Given the description of an element on the screen output the (x, y) to click on. 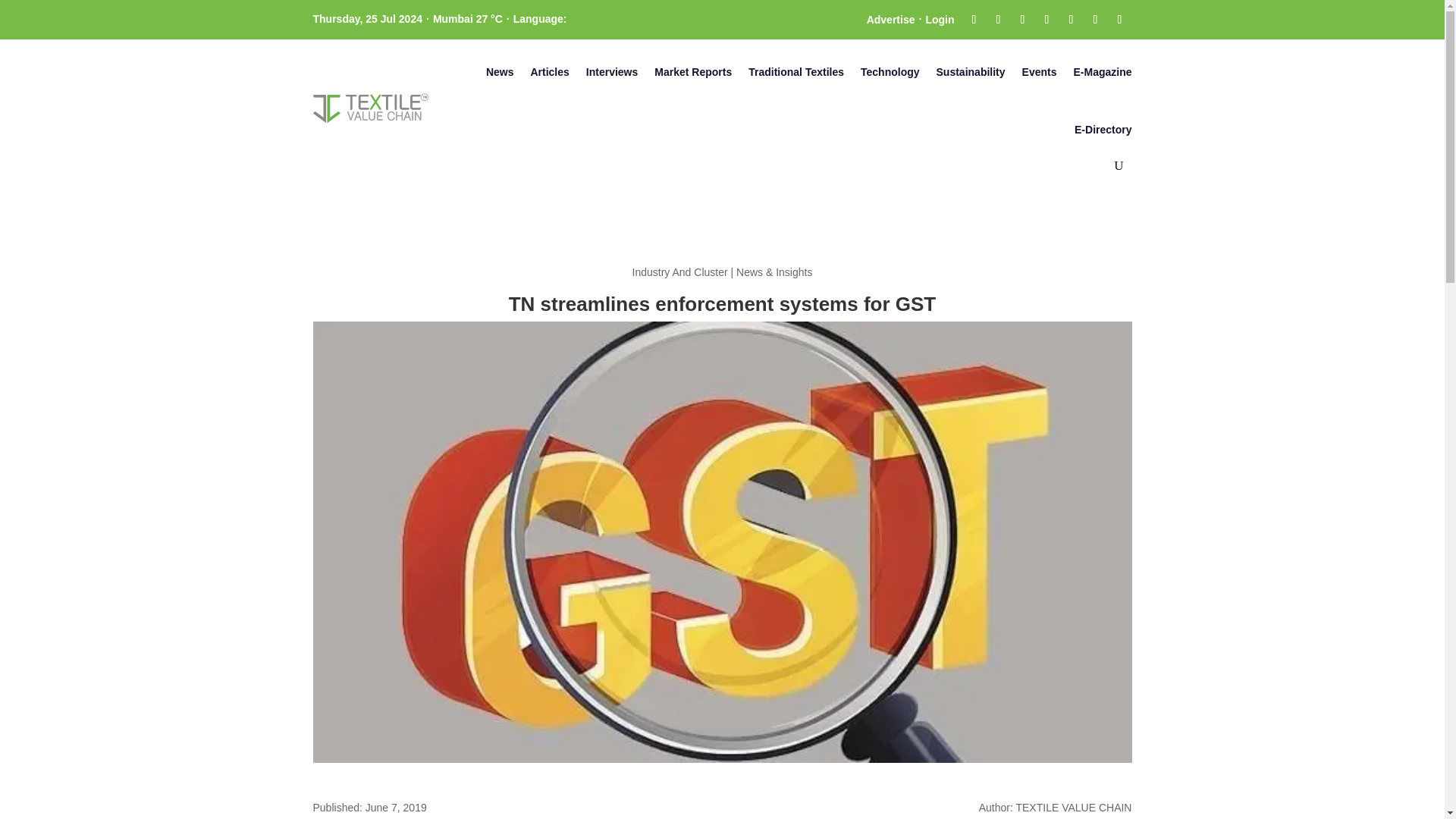
E-Directory (1102, 129)
Follow on LinkedIn (1045, 19)
Articles (549, 71)
Technology (890, 71)
Login (938, 19)
Follow on Youtube (1070, 19)
Follow on Telegram (1094, 19)
Follow on WhatsApp (1118, 19)
Sustainability (971, 71)
Follow on X (997, 19)
Traditional Textiles (796, 71)
Events (1039, 71)
Market Reports (692, 71)
Interviews (611, 71)
E-Magazine (1102, 71)
